Given the description of an element on the screen output the (x, y) to click on. 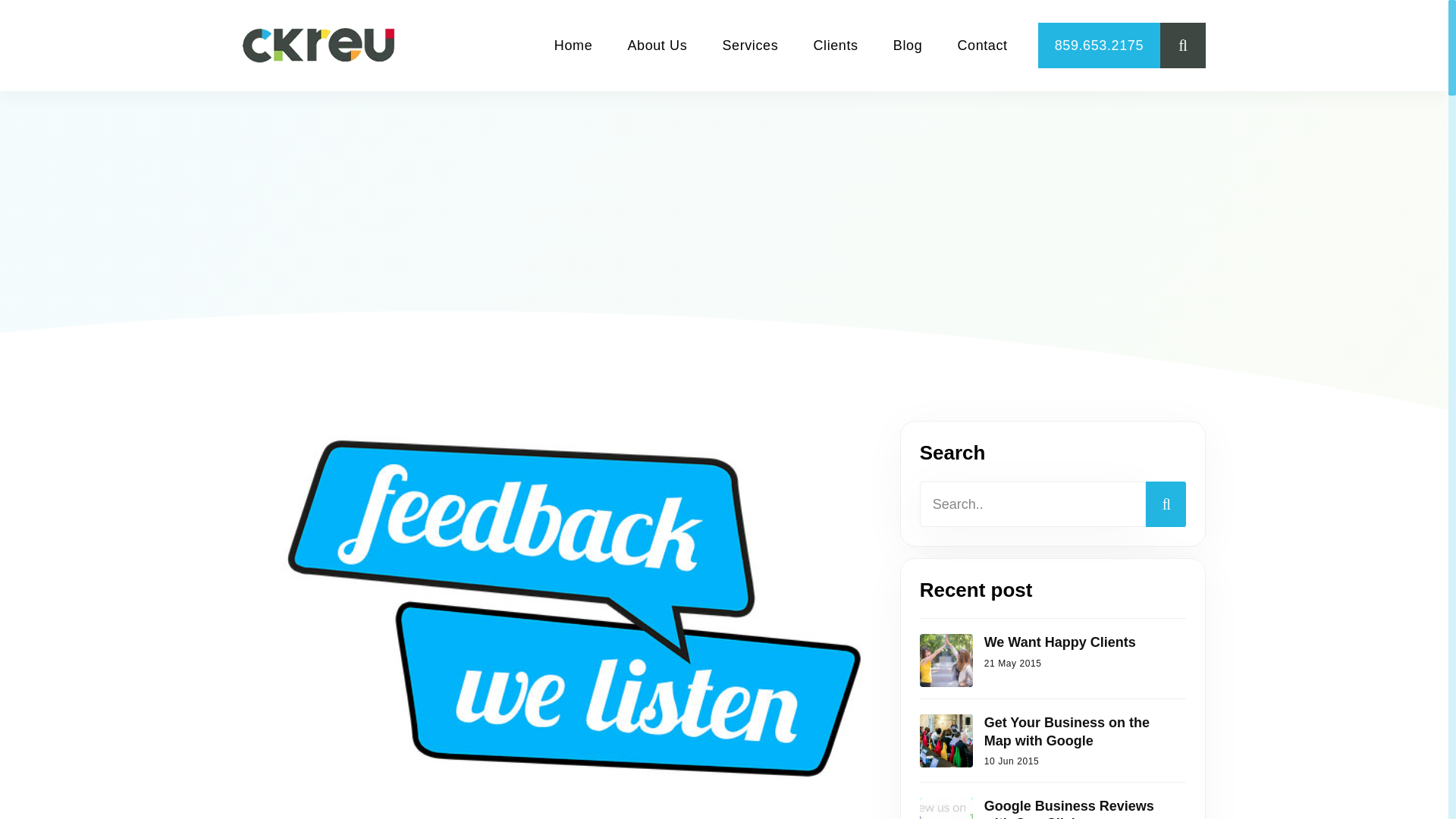
Get Your Business on the Map with Google (1079, 732)
We Want Happy Clients (1079, 642)
Go (1137, 45)
859.653.2175 (1099, 44)
Google Business Reviews with One-Click (1079, 808)
